Given the description of an element on the screen output the (x, y) to click on. 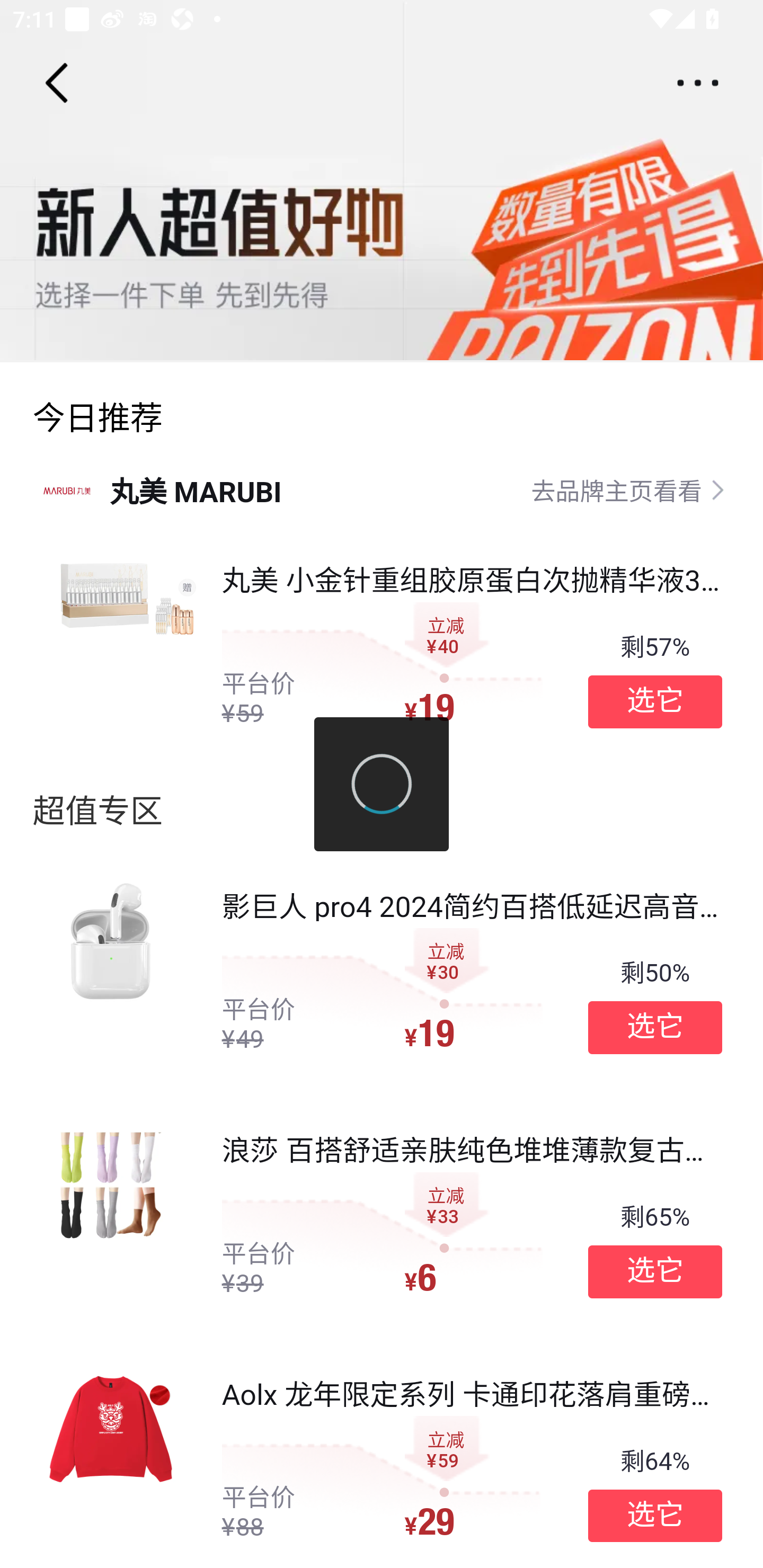
丸美 MARUBI去品牌主页看看 (381, 489)
选它 (654, 701)
选它 (654, 1027)
选它 (654, 1271)
选它 (654, 1515)
